Given the description of an element on the screen output the (x, y) to click on. 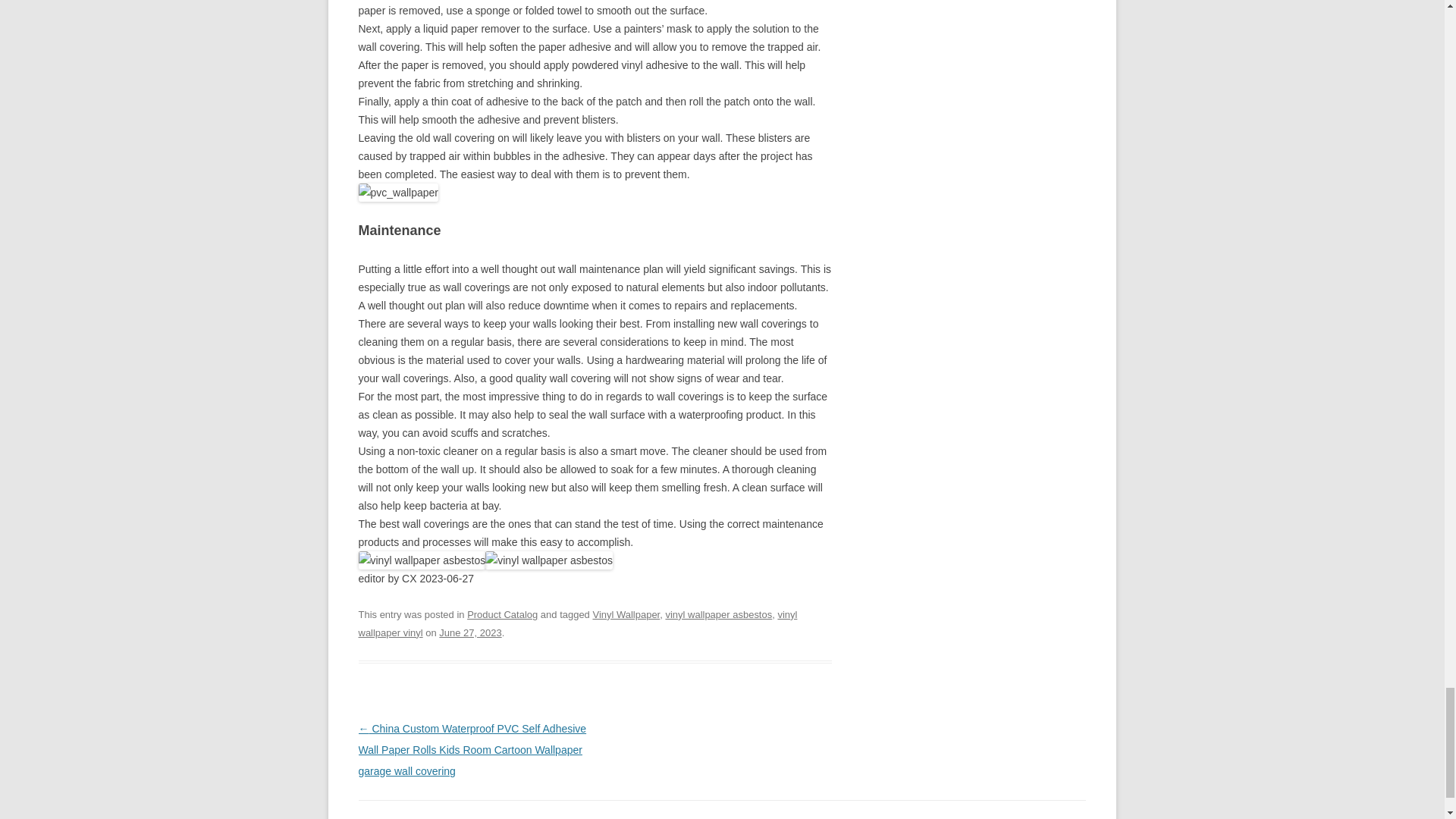
Vinyl Wallpaper (625, 614)
vinyl wallpaper asbestos (718, 614)
1:43 am (469, 632)
vinyl wallpaper vinyl (577, 623)
June 27, 2023 (469, 632)
Product Catalog (502, 614)
